Given the description of an element on the screen output the (x, y) to click on. 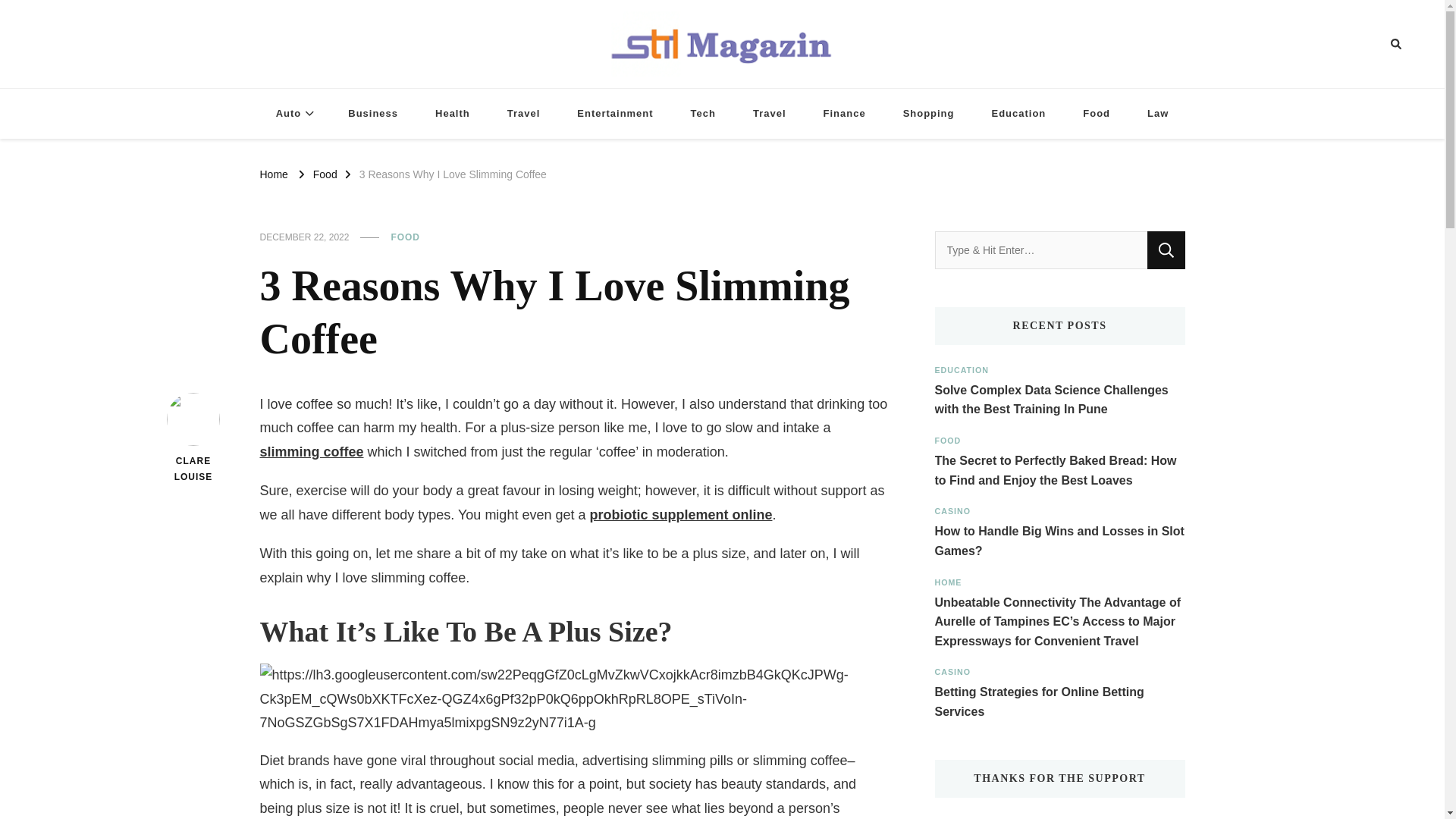
Search (1166, 249)
FOOD (405, 237)
Tech (703, 113)
Home (272, 173)
probiotic supplement online (680, 514)
Search (1166, 249)
Entertainment (614, 113)
Law (1158, 113)
Food (325, 173)
slimming coffee (310, 451)
